Given the description of an element on the screen output the (x, y) to click on. 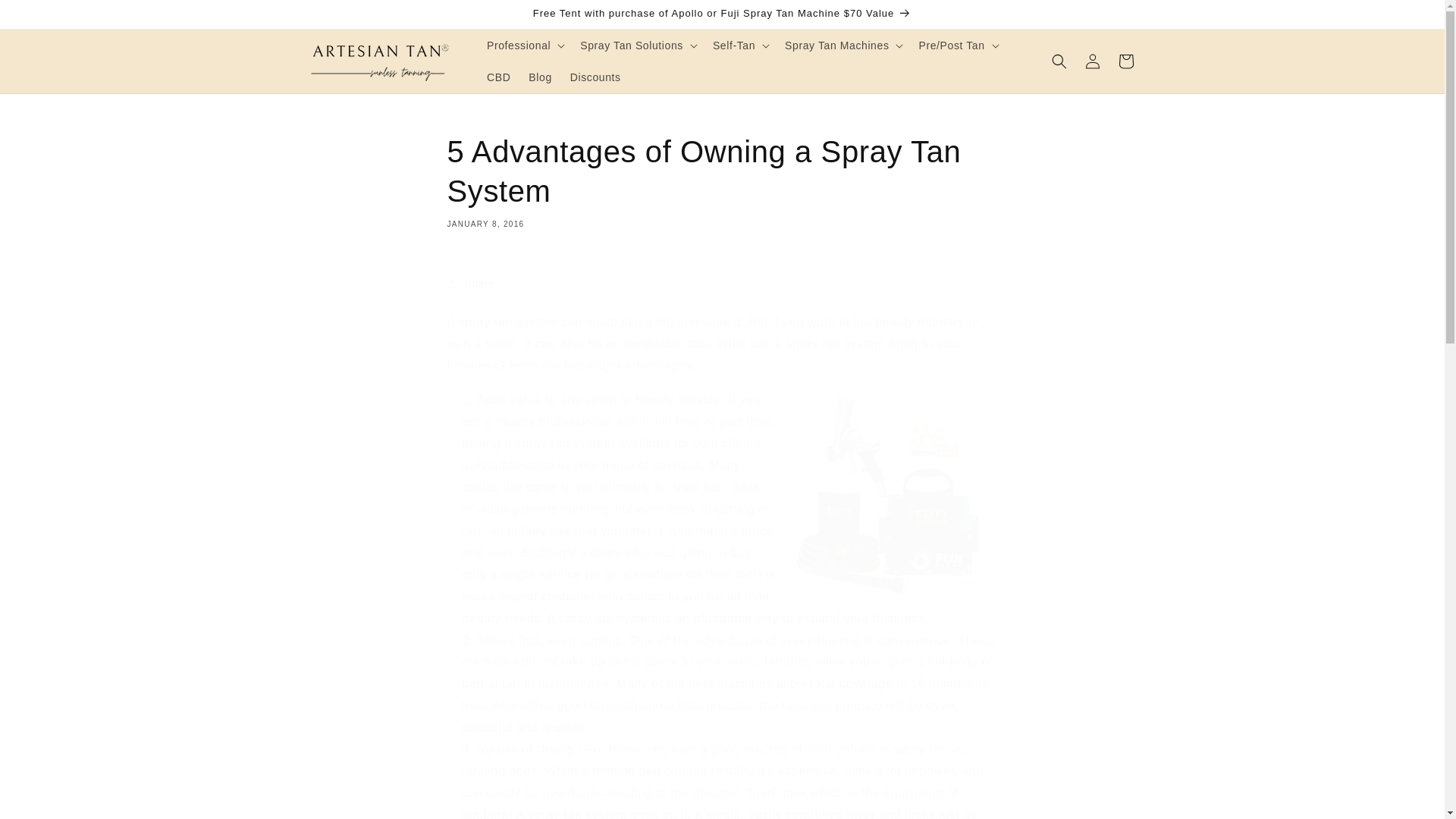
Share (721, 283)
Skip to content (45, 17)
